Given the description of an element on the screen output the (x, y) to click on. 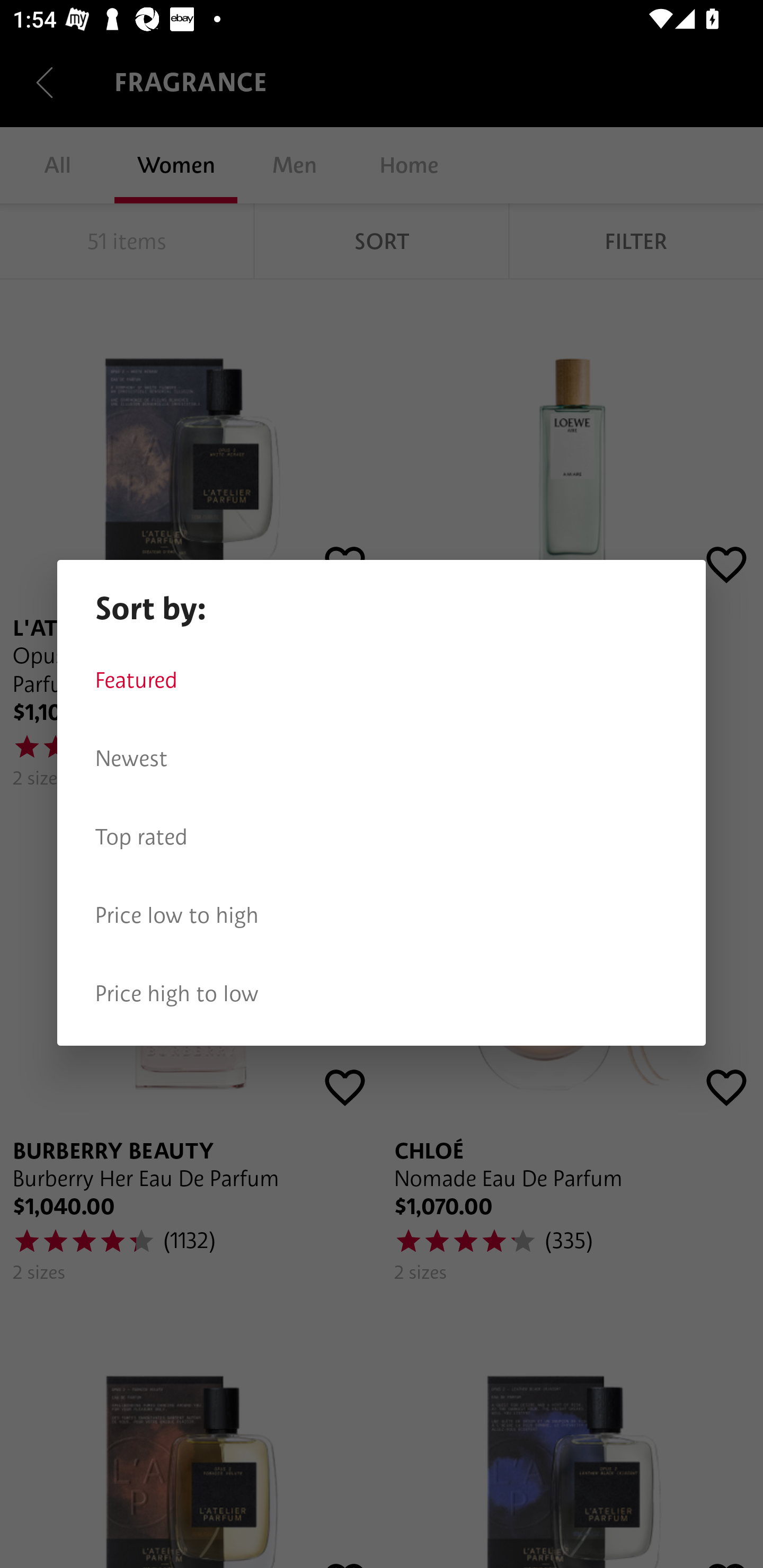
Featured (381, 680)
Newest (381, 758)
Top rated (381, 837)
Price low to high (381, 915)
Price high to low (381, 993)
